Given the description of an element on the screen output the (x, y) to click on. 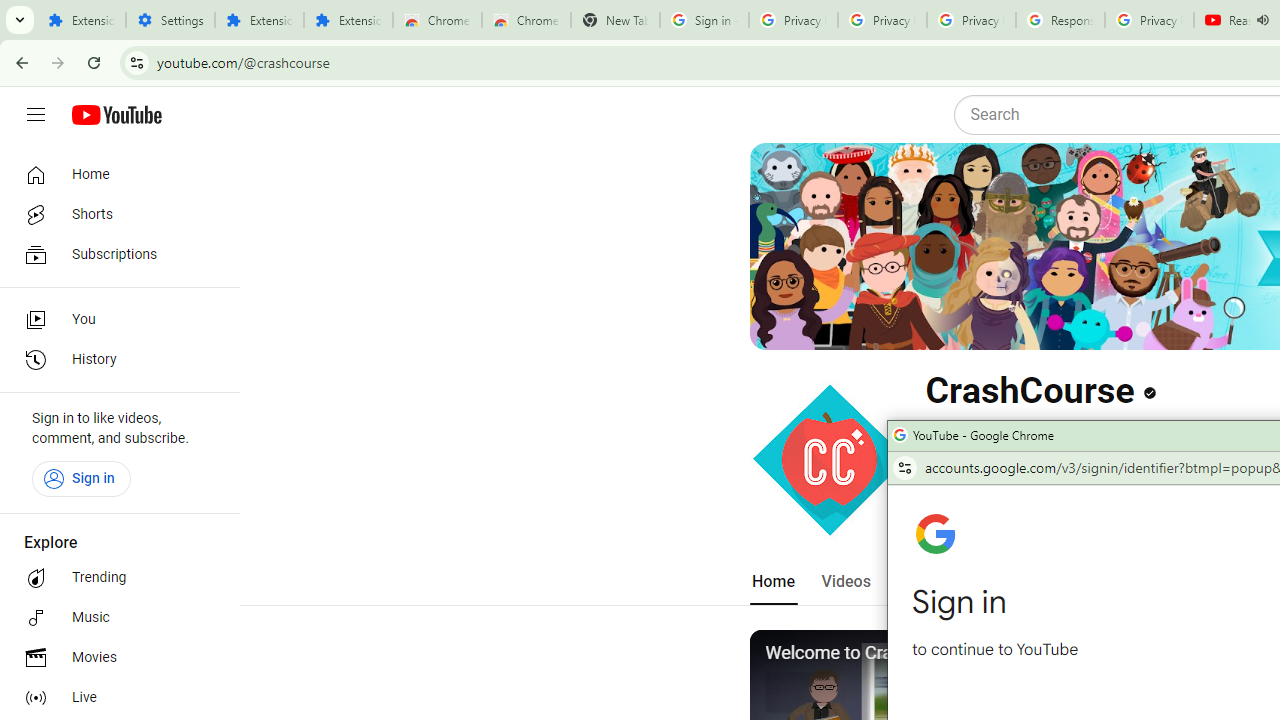
Extensions (347, 20)
Chrome Web Store (437, 20)
YouTube Home (116, 115)
Live (113, 697)
Extensions (81, 20)
Trending (113, 578)
Music (113, 617)
